Given the description of an element on the screen output the (x, y) to click on. 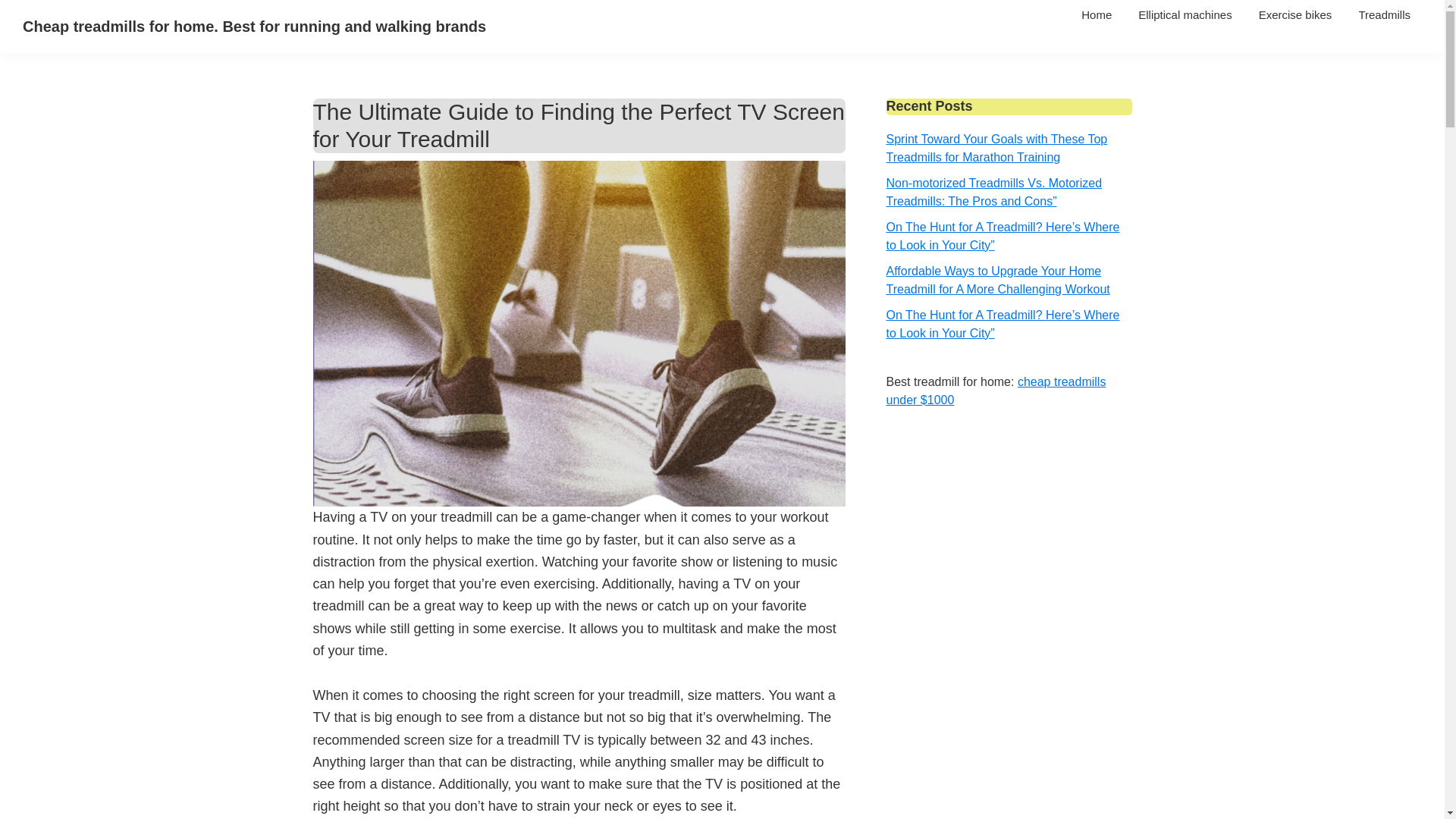
Elliptical machines (1184, 14)
Treadmills (1384, 14)
Home (1096, 14)
Exercise bikes (1295, 14)
